Given the description of an element on the screen output the (x, y) to click on. 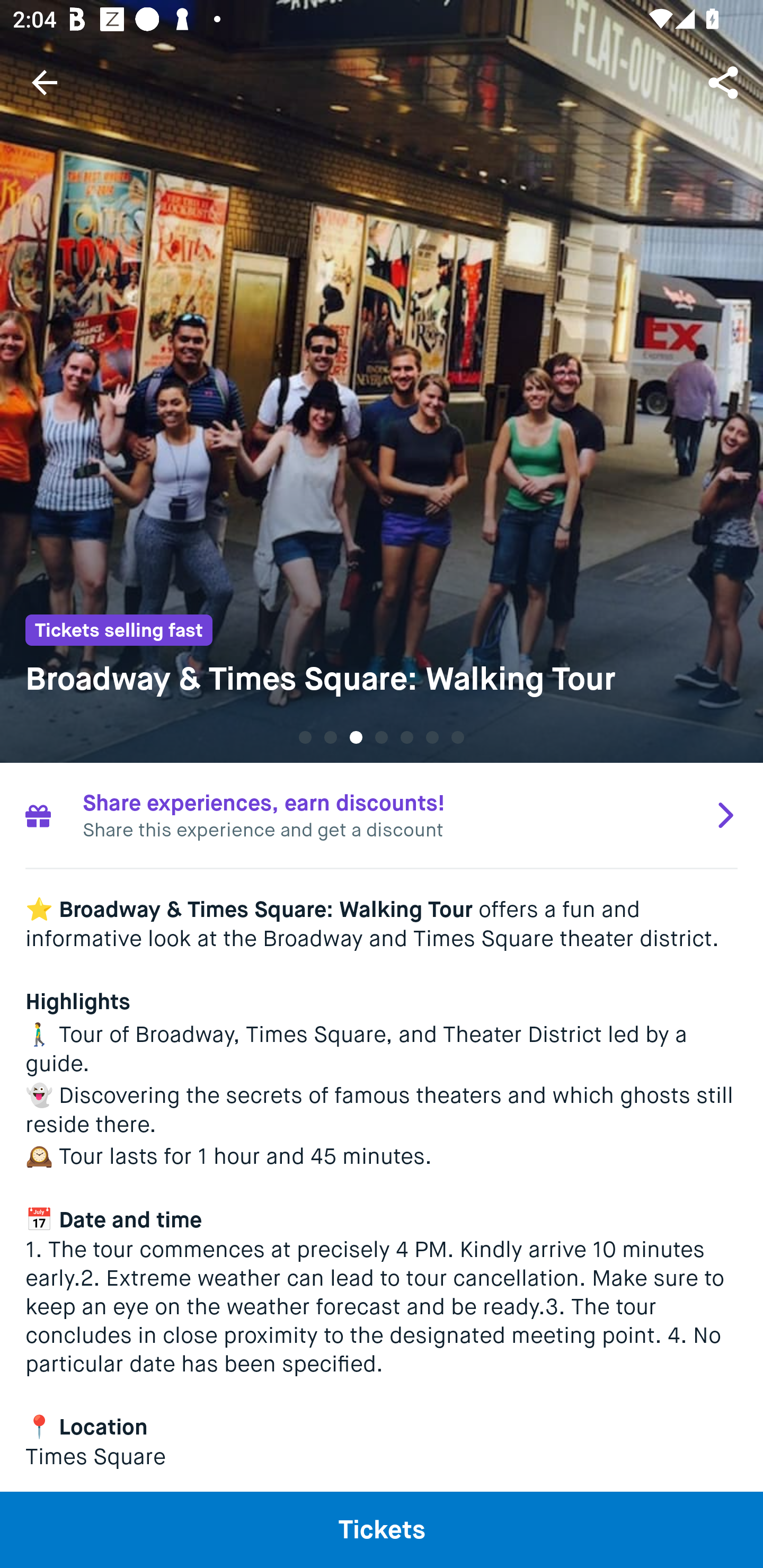
Navigate up (44, 82)
Share (724, 81)
Tickets (381, 1529)
